Given the description of an element on the screen output the (x, y) to click on. 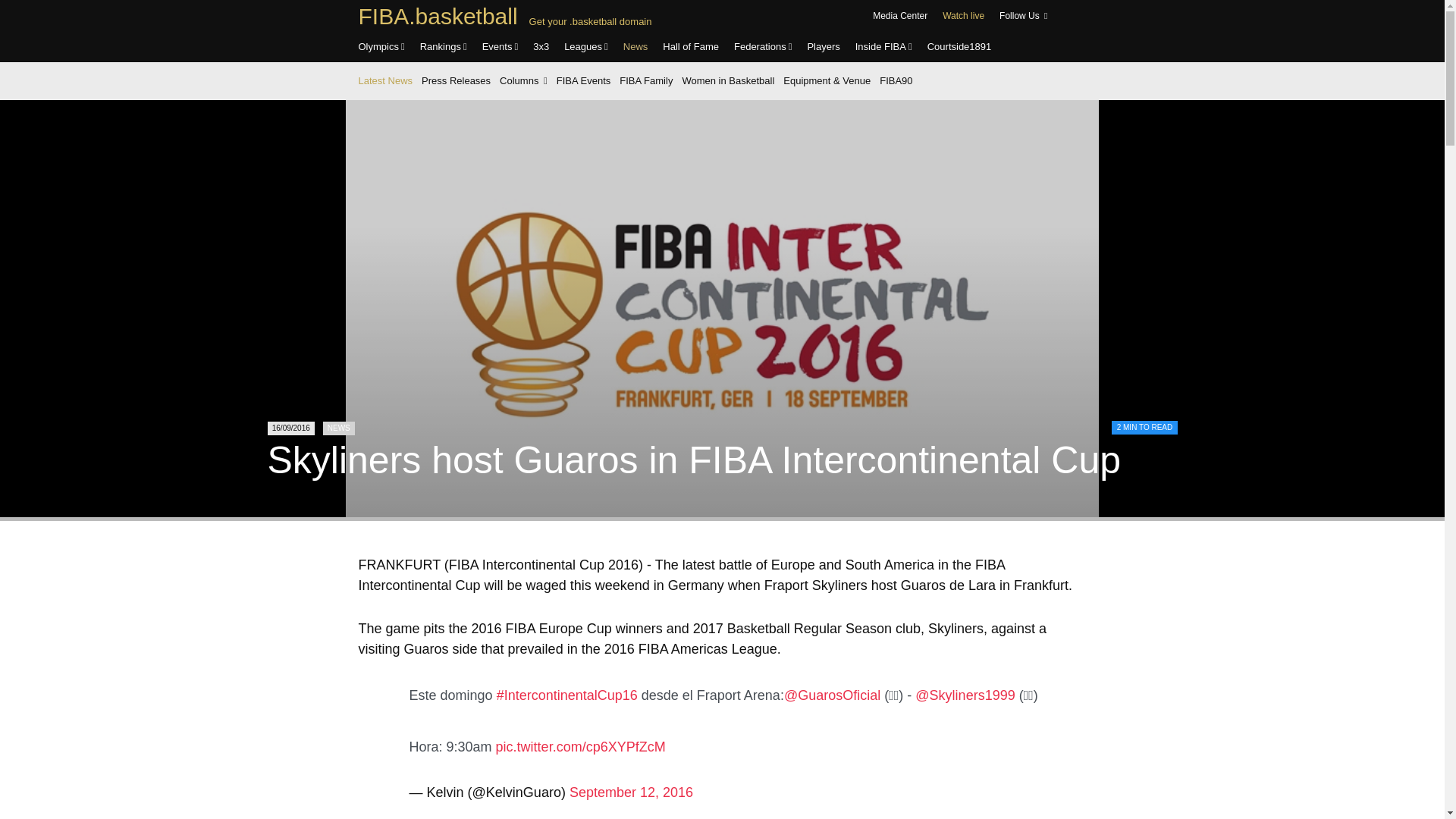
Hall of Fame (690, 46)
Players (823, 46)
FIBA.basketball (437, 15)
Courtside1891 (959, 46)
Watch live (962, 15)
Get your .basketball domain (590, 21)
Media Center (899, 15)
